Given the description of an element on the screen output the (x, y) to click on. 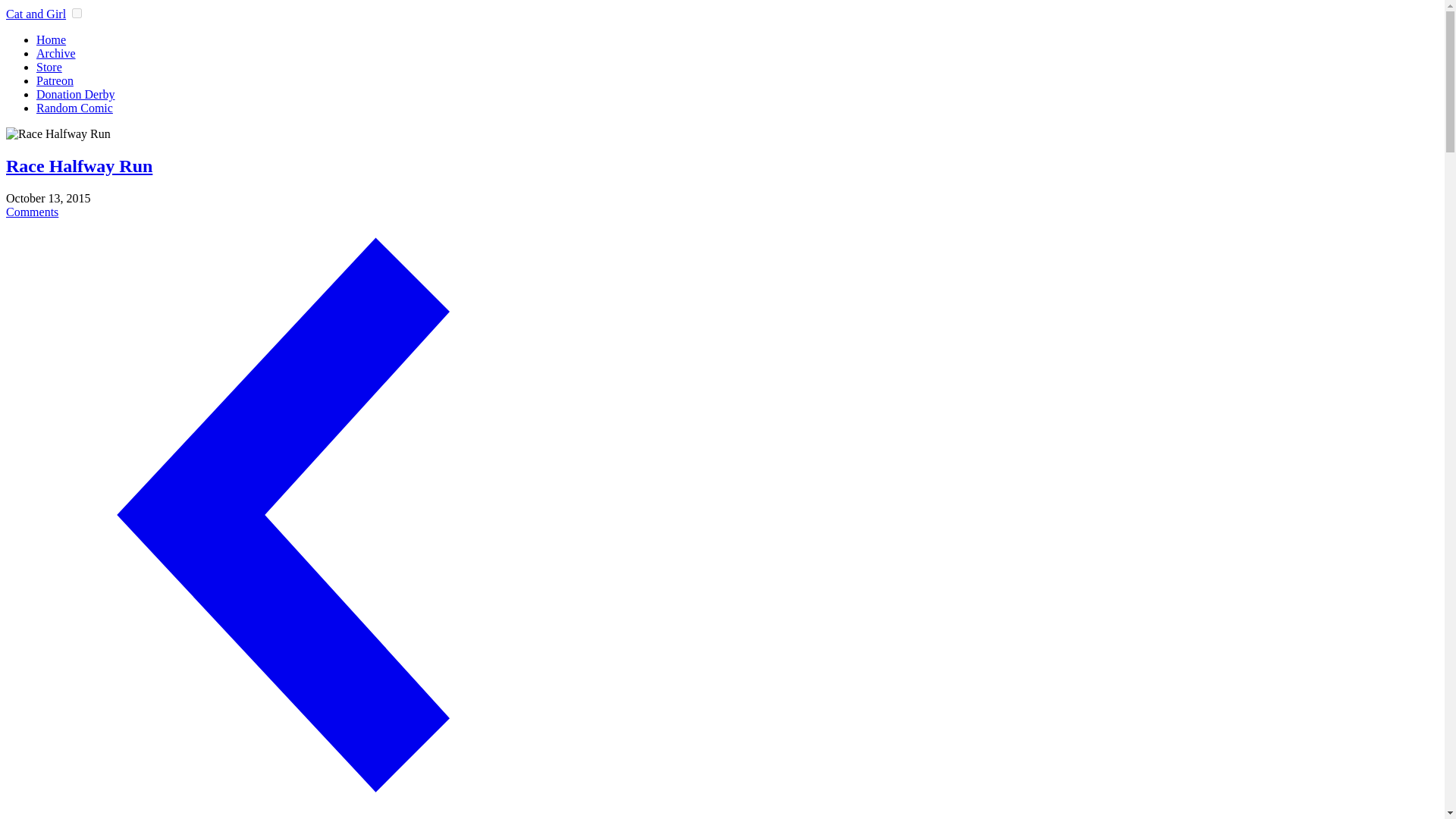
Contact (74, 107)
Store (49, 66)
Cat and Girl (35, 13)
Contact (75, 93)
Race Halfway Run (300, 166)
Home (50, 39)
Archive (55, 52)
Race Halfway Run (57, 133)
Store (49, 66)
Random Comic (74, 107)
Home (50, 39)
Contact (55, 80)
